Given the description of an element on the screen output the (x, y) to click on. 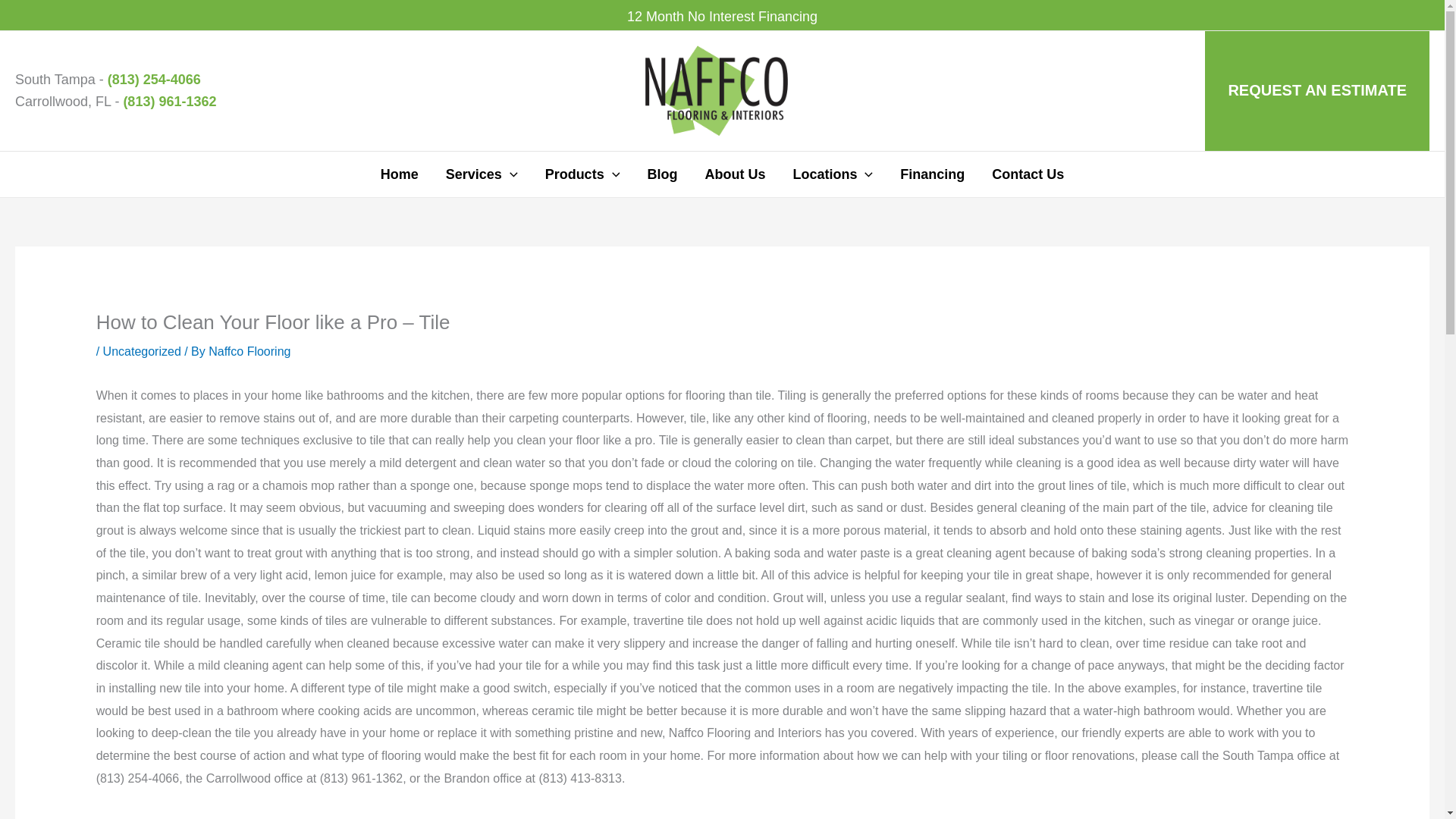
Home (399, 174)
12 Month No Interest Financing (721, 16)
Services (481, 174)
Locations (832, 174)
View all posts by Naffco Flooring (248, 350)
Blog (661, 174)
About Us (734, 174)
REQUEST AN ESTIMATE (1317, 90)
Products (582, 174)
